Given the description of an element on the screen output the (x, y) to click on. 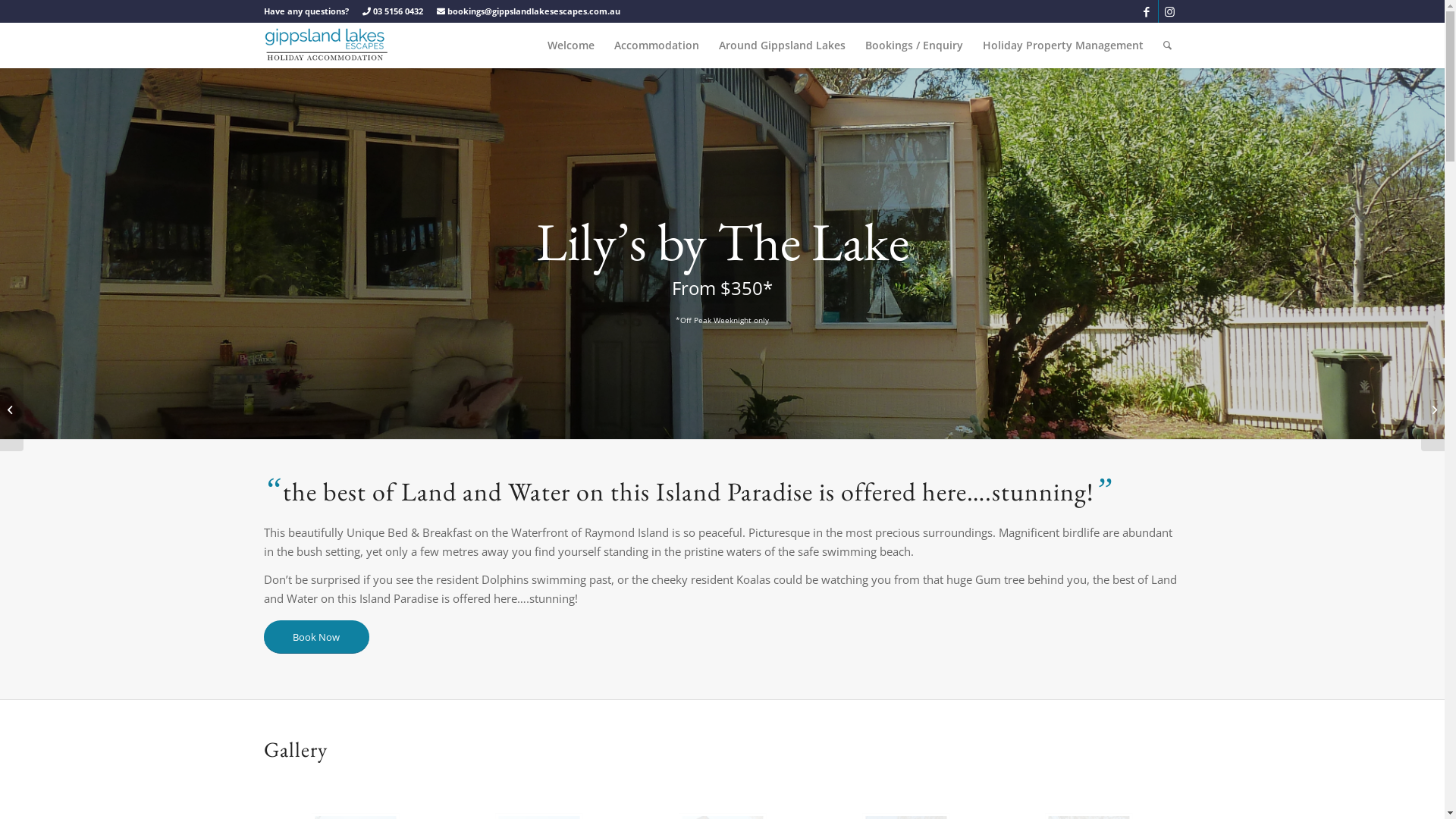
Instagram Element type: hover (1169, 11)
Holiday Property Management Element type: text (1062, 45)
Around Gippsland Lakes Element type: text (781, 45)
bookings@gippslandlakesescapes.com.au Element type: text (528, 10)
Book Now Element type: text (316, 637)
Bookings / Enquiry Element type: text (913, 45)
03 5156 0432 Element type: text (392, 10)
GLE-LOGO-2 Element type: hover (326, 45)
Facebook Element type: hover (1146, 11)
Welcome Element type: text (569, 45)
Accommodation Element type: text (655, 45)
